Given the description of an element on the screen output the (x, y) to click on. 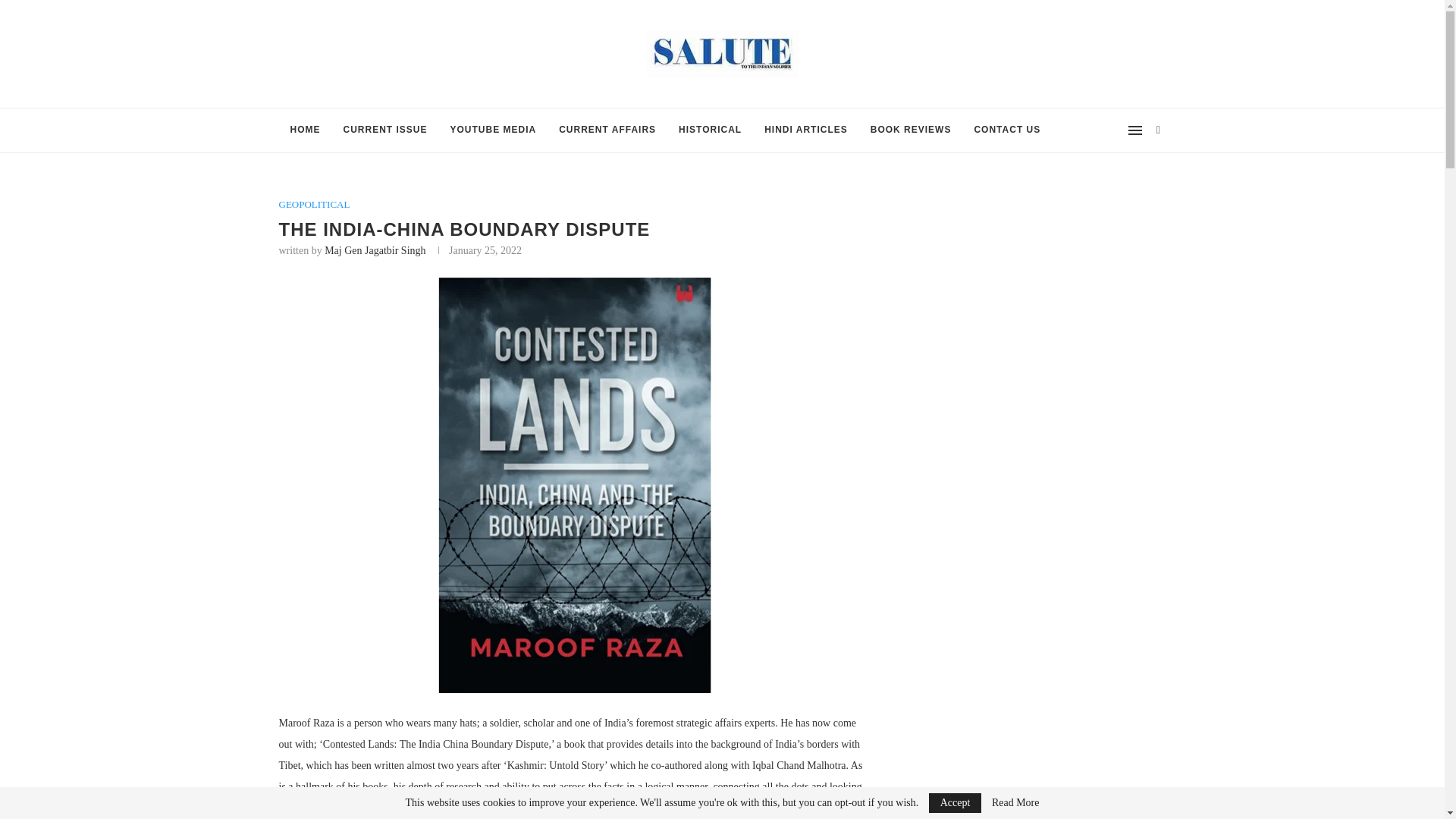
HISTORICAL (709, 130)
image-26 (574, 484)
GEOPOLITICAL (314, 204)
CONTACT US (1006, 130)
YOUTUBE MEDIA (493, 130)
HINDI ARTICLES (805, 130)
CURRENT ISSUE (385, 130)
BOOK REVIEWS (910, 130)
CURRENT AFFAIRS (606, 130)
Maj Gen Jagatbir Singh (374, 250)
HOME (305, 130)
